Given the description of an element on the screen output the (x, y) to click on. 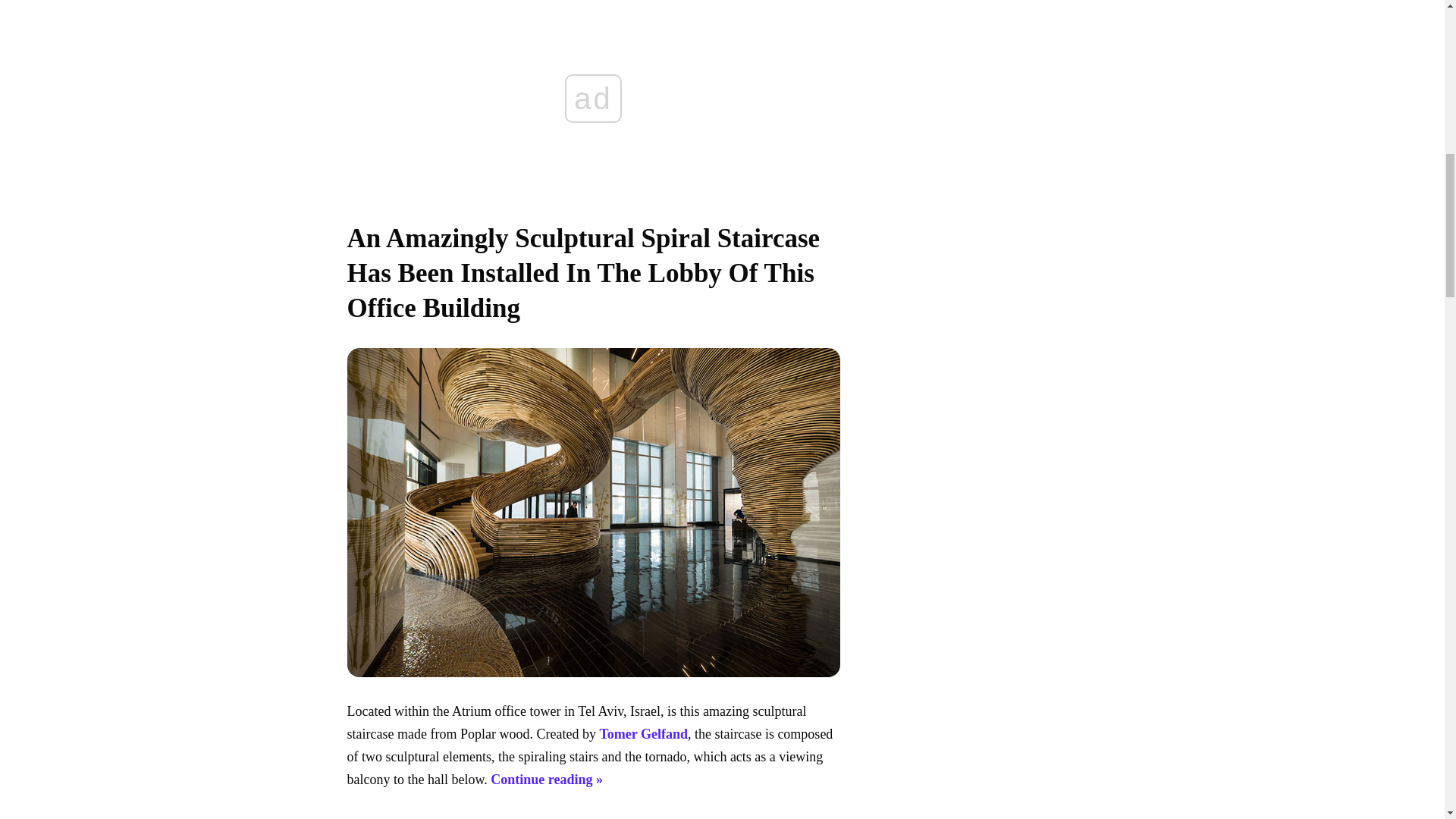
Tomer Gelfand (642, 734)
